Given the description of an element on the screen output the (x, y) to click on. 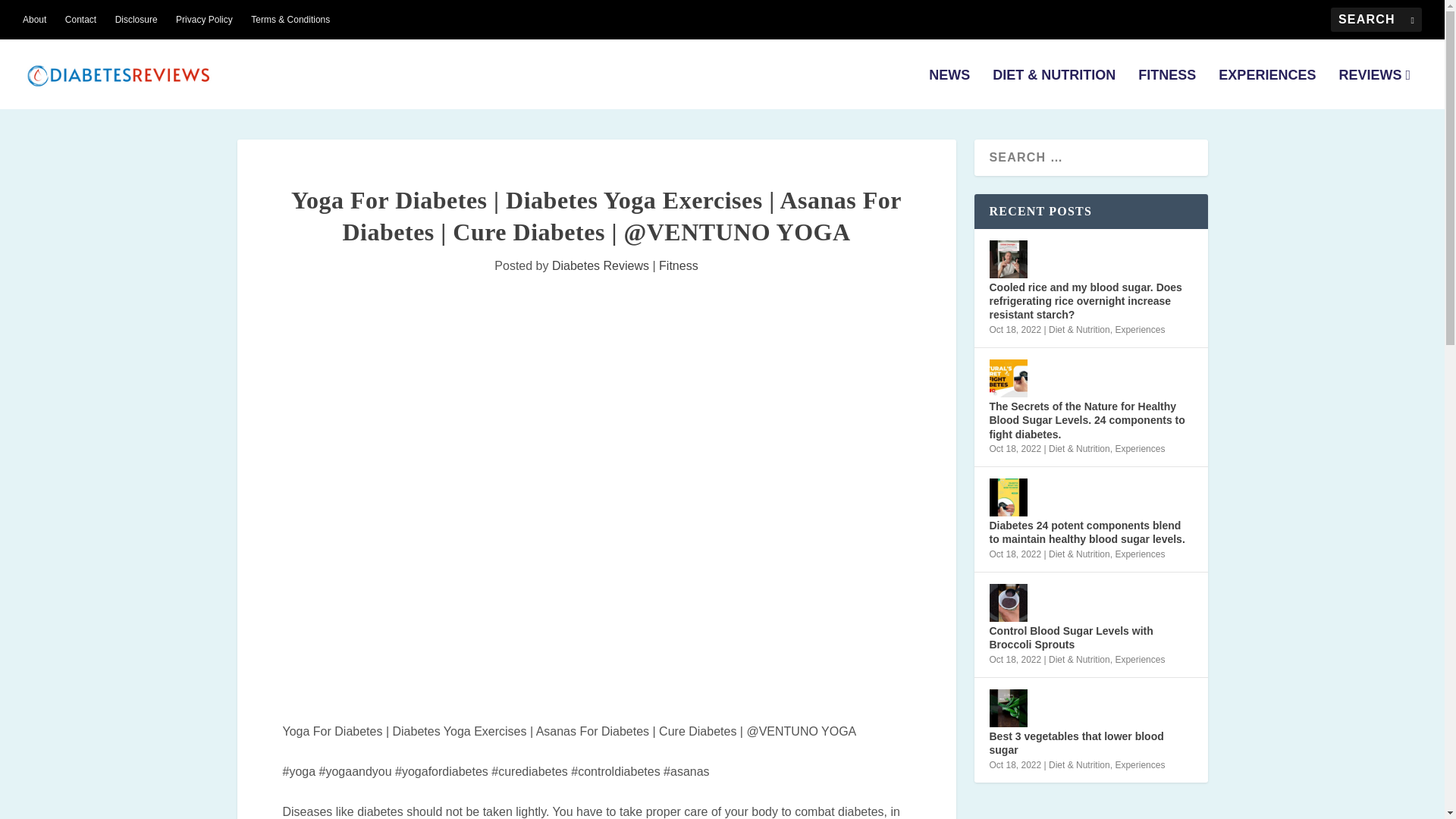
Disclosure (136, 19)
Fitness (678, 265)
Diabetes Reviews (600, 265)
Posts by Diabetes Reviews (600, 265)
FITNESS (1166, 88)
Privacy Policy (204, 19)
NEWS (948, 88)
About (34, 19)
Contact (80, 19)
REVIEWS (1374, 88)
Search for: (1376, 19)
EXPERIENCES (1267, 88)
